Given the description of an element on the screen output the (x, y) to click on. 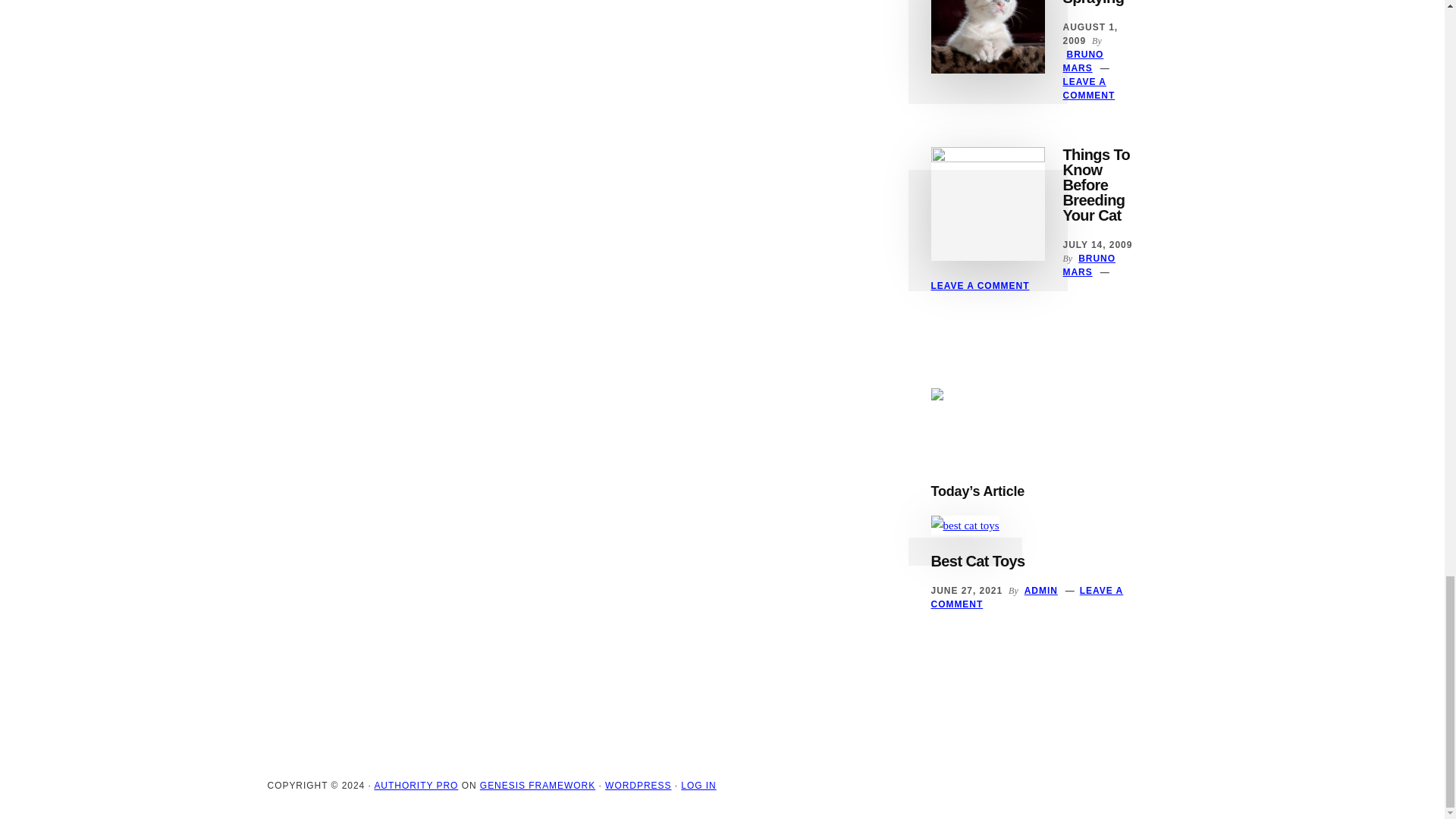
How to Stop Cat Spraying (1093, 2)
LEAVE A COMMENT (1088, 88)
BRUNO MARS (1082, 61)
